Given the description of an element on the screen output the (x, y) to click on. 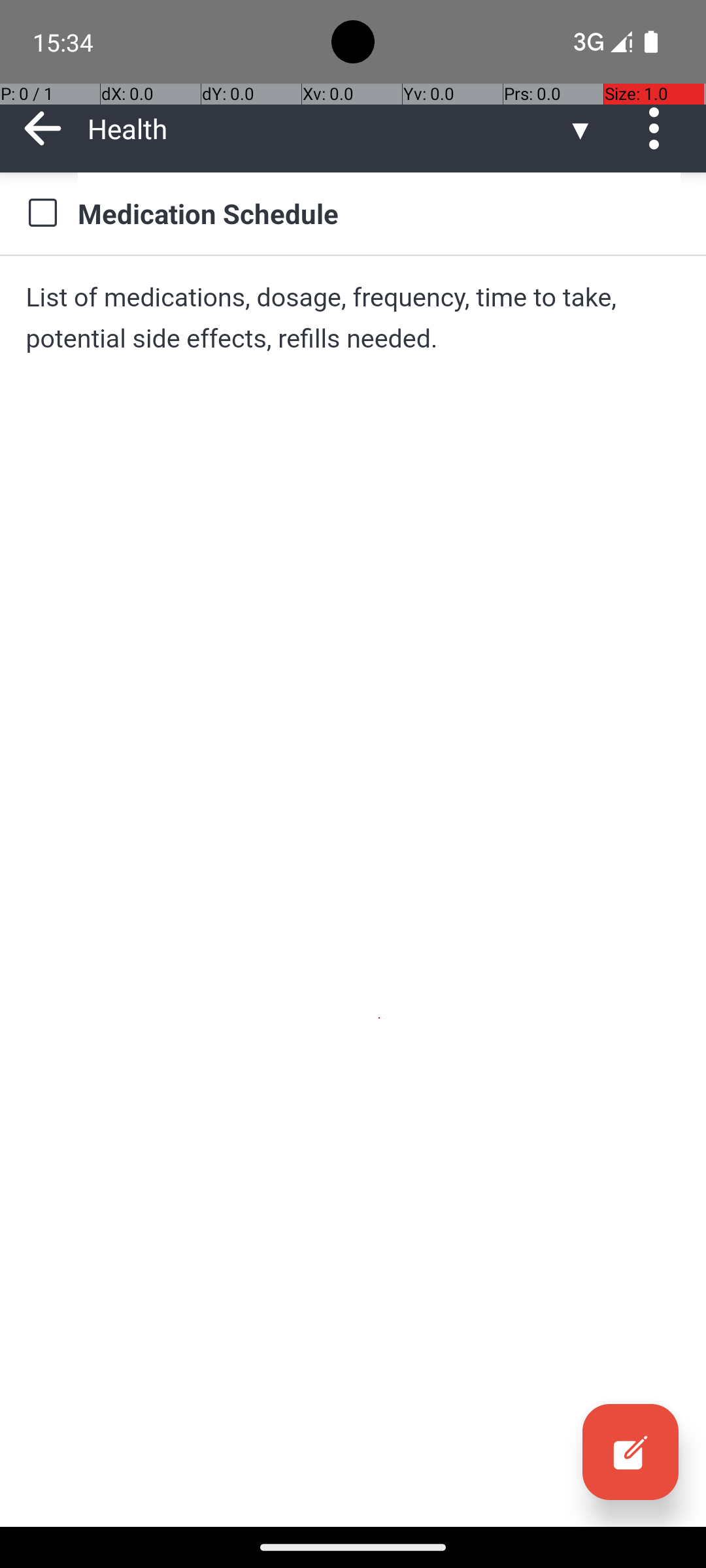
Medication Schedule Element type: android.widget.EditText (378, 213)
Edit, collapsed Element type: android.widget.Button (630, 1452)
 Element type: android.widget.TextView (42, 127)
Health Element type: android.widget.TextView (326, 128)
▼ Element type: android.widget.TextView (580, 128)
Actions Element type: android.view.ViewGroup (658, 127)
 Element type: android.widget.TextView (42, 212)
 Element type: android.widget.TextView (630, 1451)
 Element type: android.widget.TextView (658, 127)
List of medications, dosage, frequency, time to take, potential side effects, refills needed. Element type: android.widget.TextView (352, 317)
